Given the description of an element on the screen output the (x, y) to click on. 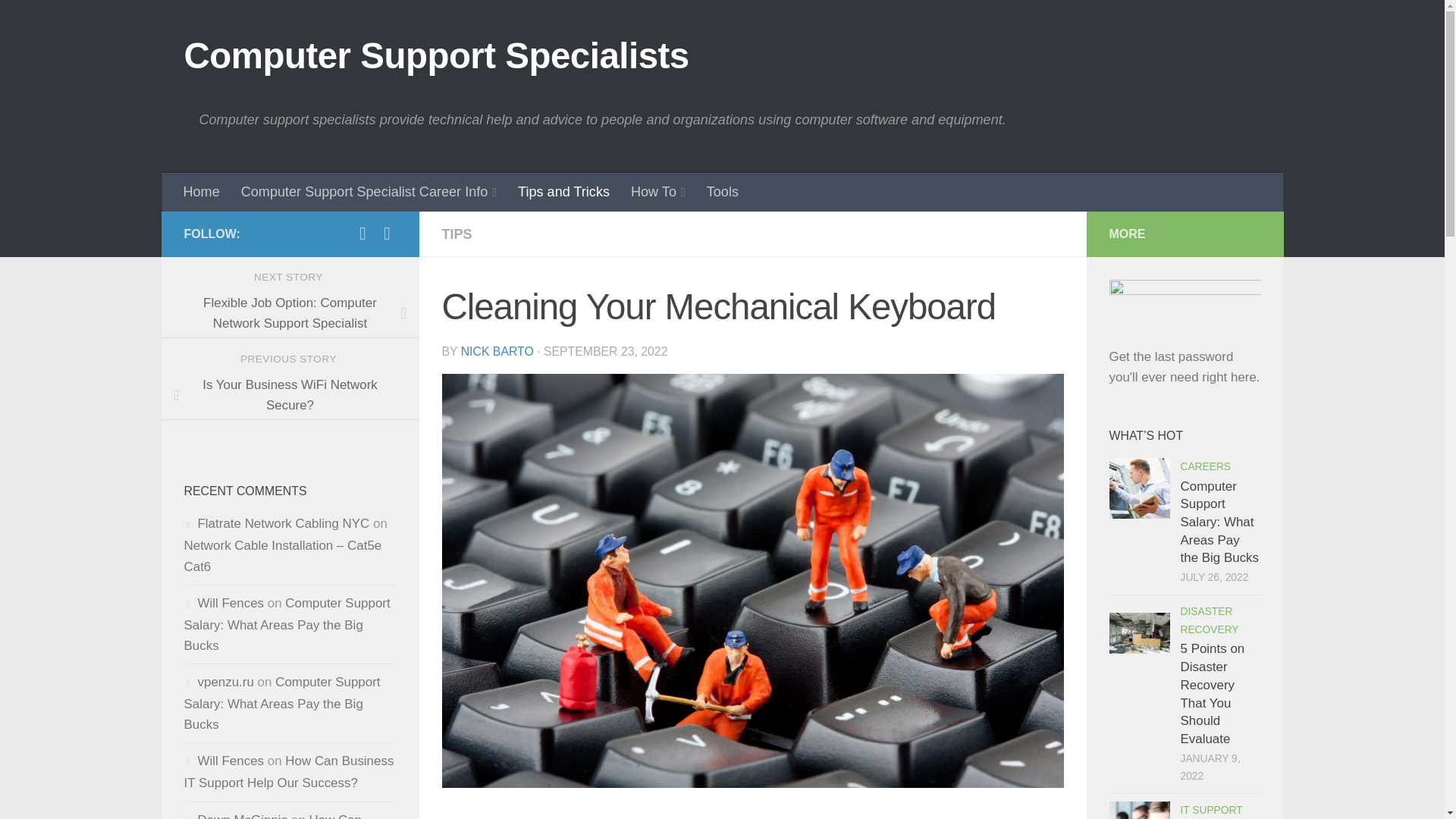
How To (657, 191)
Posts by Nick Barto (497, 350)
Twitter (386, 233)
Skip to content (69, 21)
Home (201, 191)
Computer Support Specialist Career Info (368, 191)
Tips and Tricks (563, 191)
Computer Support Specialists (435, 55)
Facebook (362, 233)
